Given the description of an element on the screen output the (x, y) to click on. 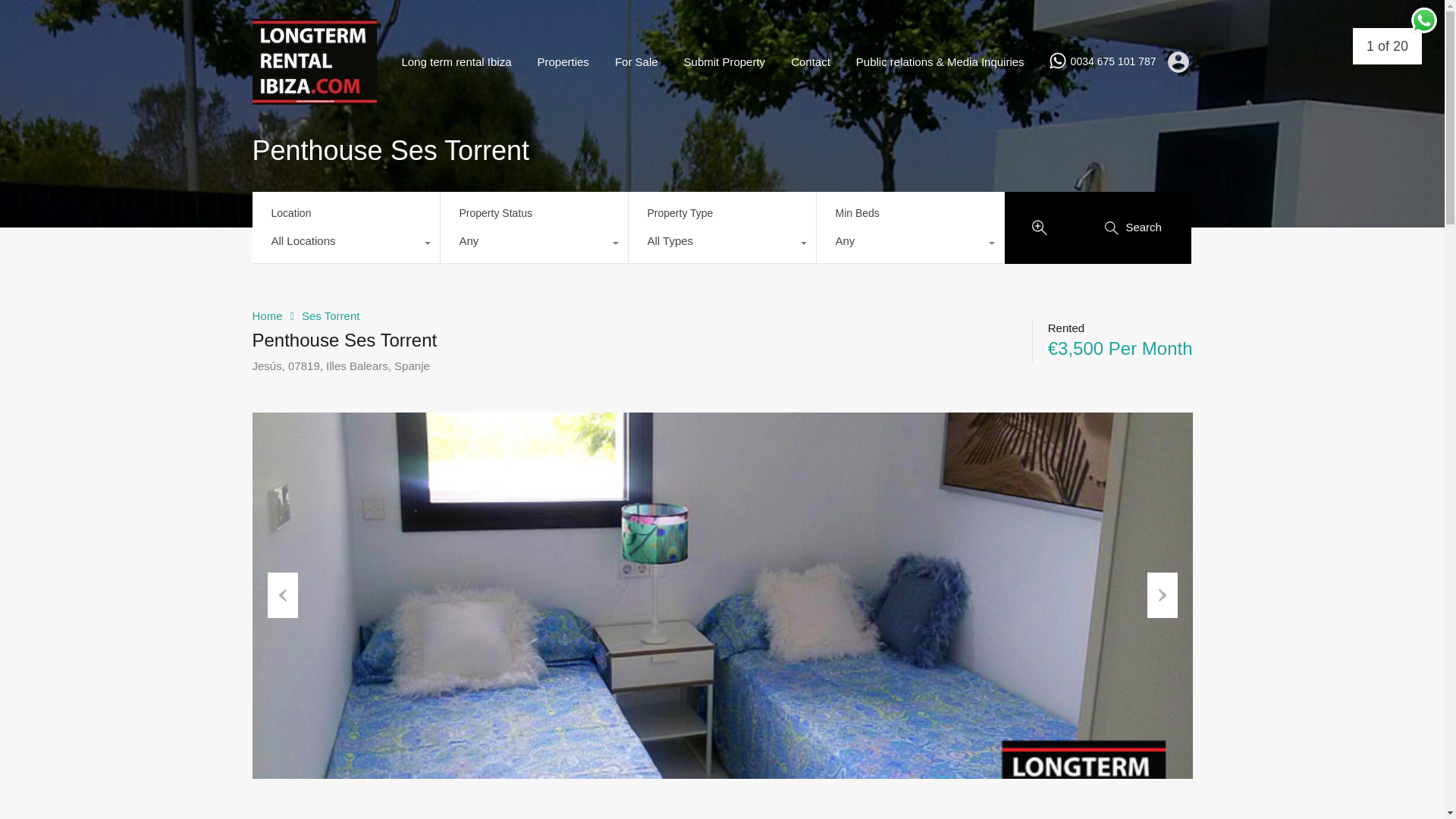
Ses Torrent (330, 315)
Long term rental Ibiza (456, 62)
All Types (721, 244)
Contact (810, 62)
Search (1133, 226)
Any (909, 244)
Properties (563, 62)
Any (533, 244)
Home (266, 315)
Any (909, 244)
All Locations (345, 244)
All Types (721, 244)
Longterm rental Ibiza (314, 97)
Submit Property (724, 62)
Any (533, 244)
